Given the description of an element on the screen output the (x, y) to click on. 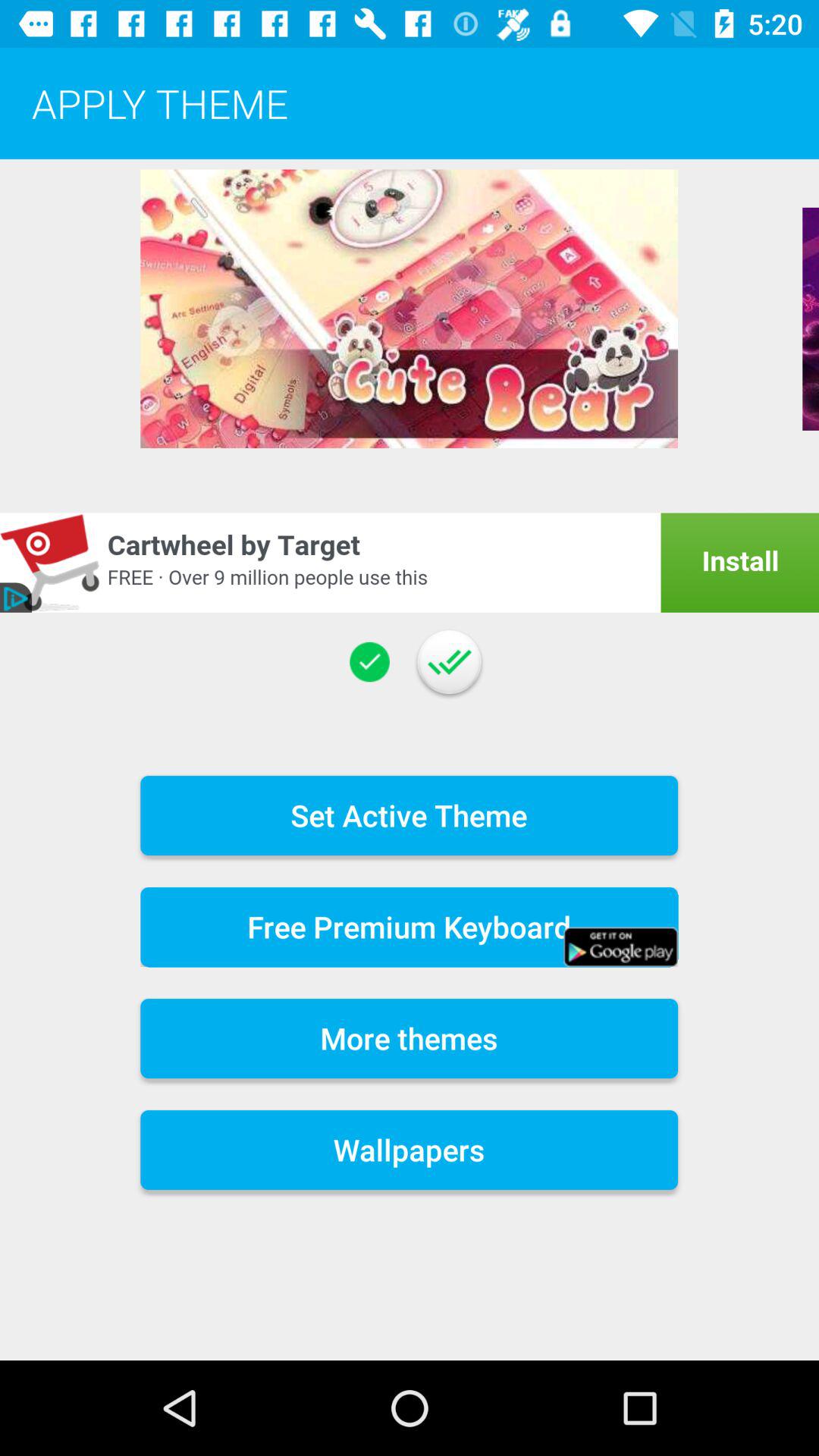
select the item above the set active theme item (449, 661)
